Given the description of an element on the screen output the (x, y) to click on. 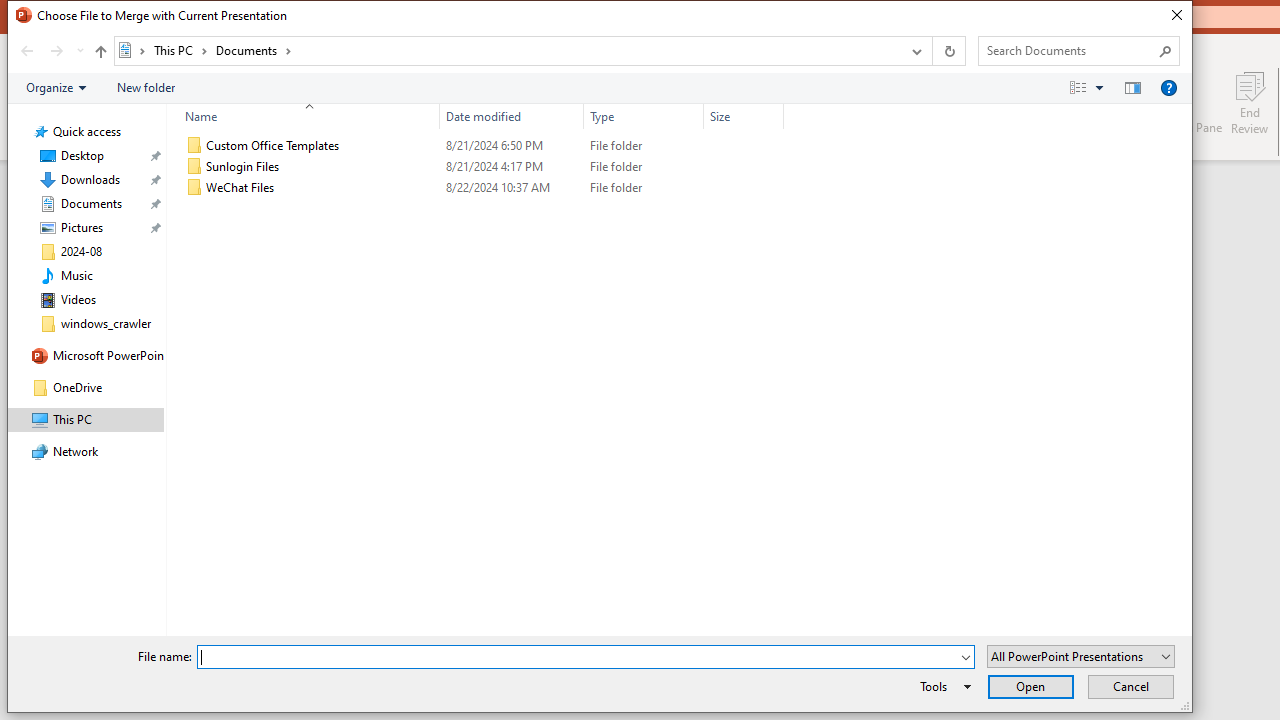
Documents (253, 50)
This PC (180, 50)
Preview pane (1132, 87)
Address band toolbar (931, 51)
File name: (577, 657)
WeChat Files (480, 187)
Name (321, 187)
View Slider (1099, 87)
Command Module (599, 87)
Tools (942, 686)
Tools (942, 686)
Forward (Alt + Right Arrow) (56, 51)
Filter dropdown (775, 115)
File name: (586, 656)
